Given the description of an element on the screen output the (x, y) to click on. 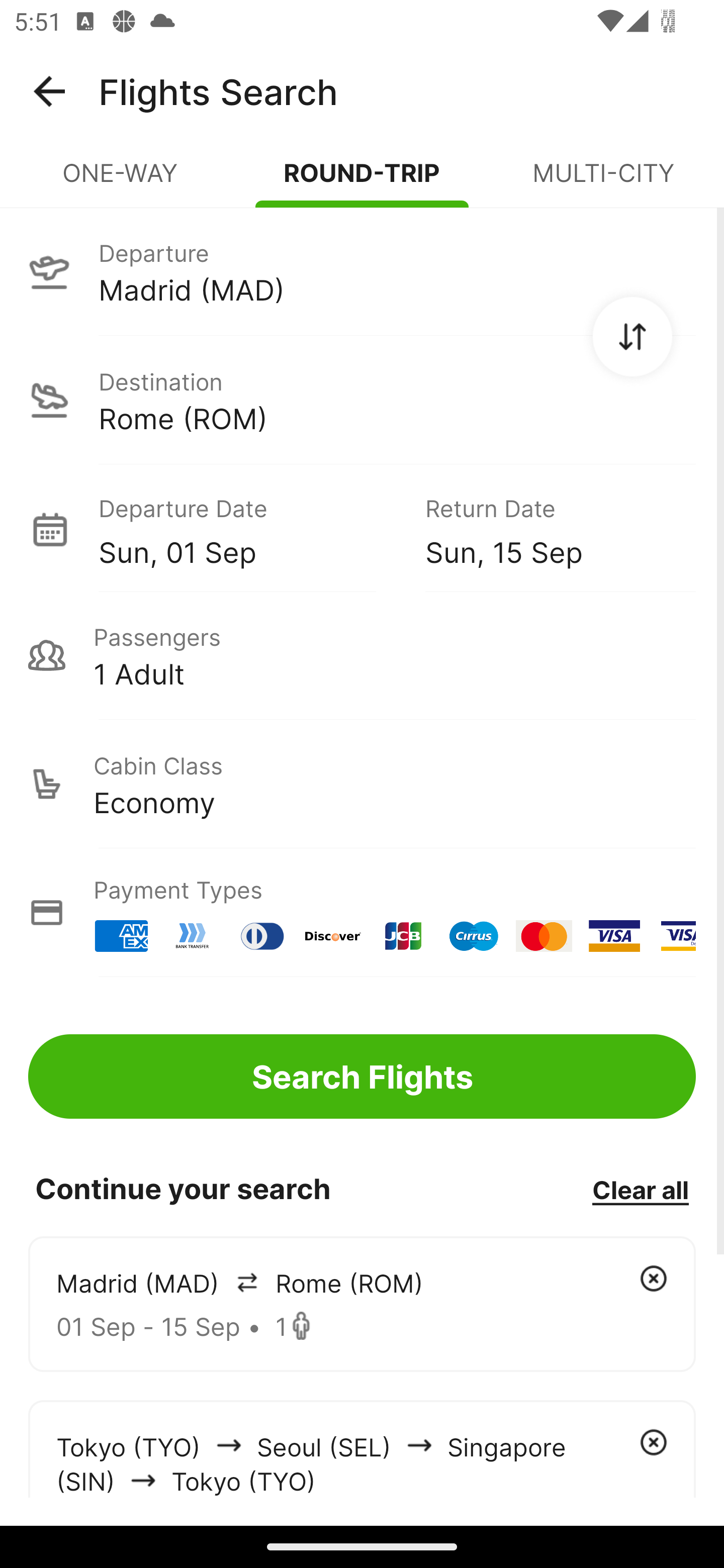
ONE-WAY (120, 180)
ROUND-TRIP (361, 180)
MULTI-CITY (603, 180)
Departure Madrid (MAD) (362, 270)
Destination Rome (ROM) (362, 400)
Departure Date Sun, 01 Sep (247, 528)
Return Date Sun, 15 Sep (546, 528)
Passengers 1 Adult (362, 655)
Cabin Class Economy (362, 783)
Payment Types (362, 912)
Search Flights (361, 1075)
Clear all (640, 1189)
